Given the description of an element on the screen output the (x, y) to click on. 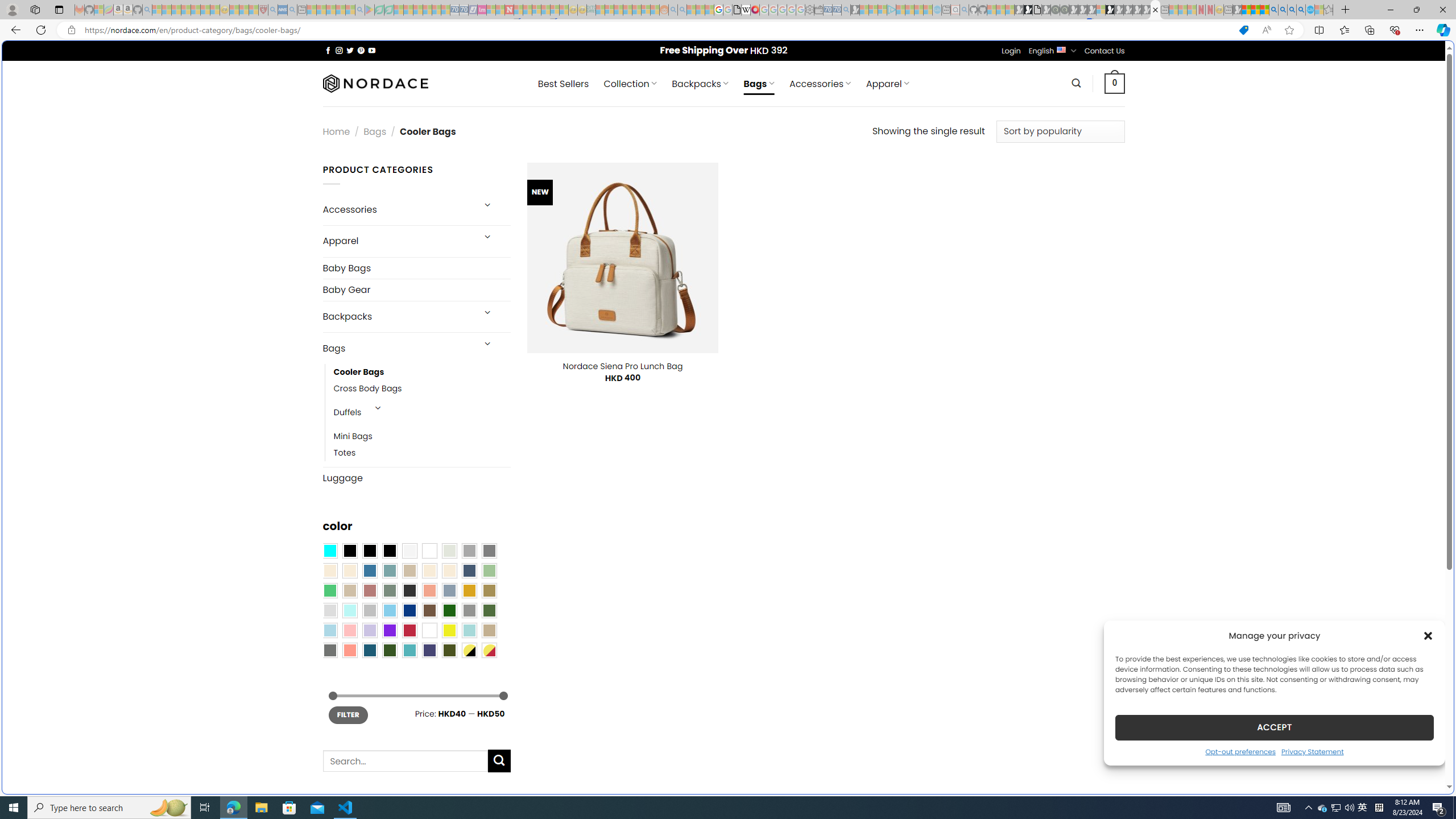
ACCEPT (1274, 727)
Rose (369, 590)
Follow on YouTube (371, 49)
All Gray (488, 550)
